Given the description of an element on the screen output the (x, y) to click on. 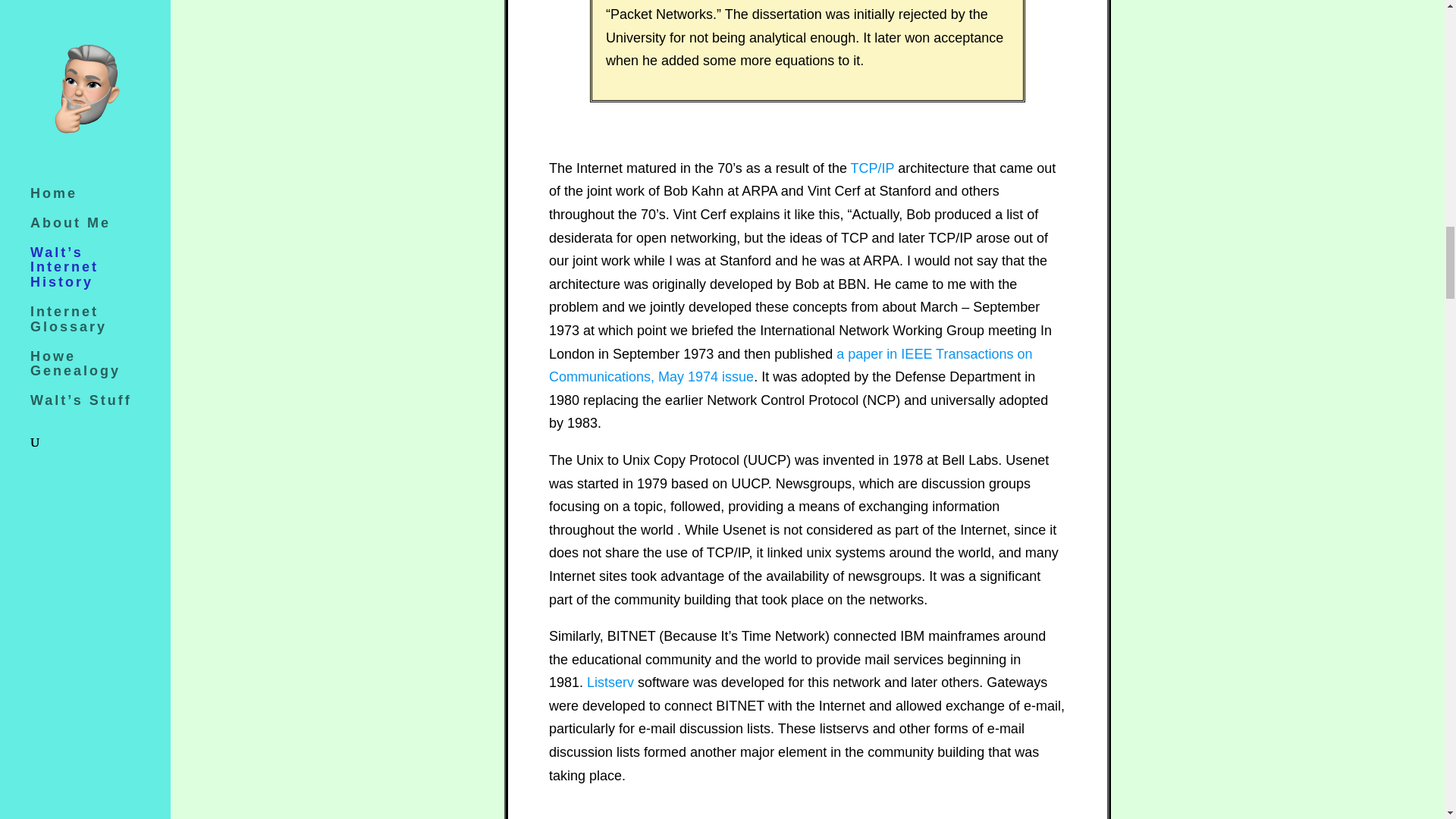
Listserv (609, 682)
